Given the description of an element on the screen output the (x, y) to click on. 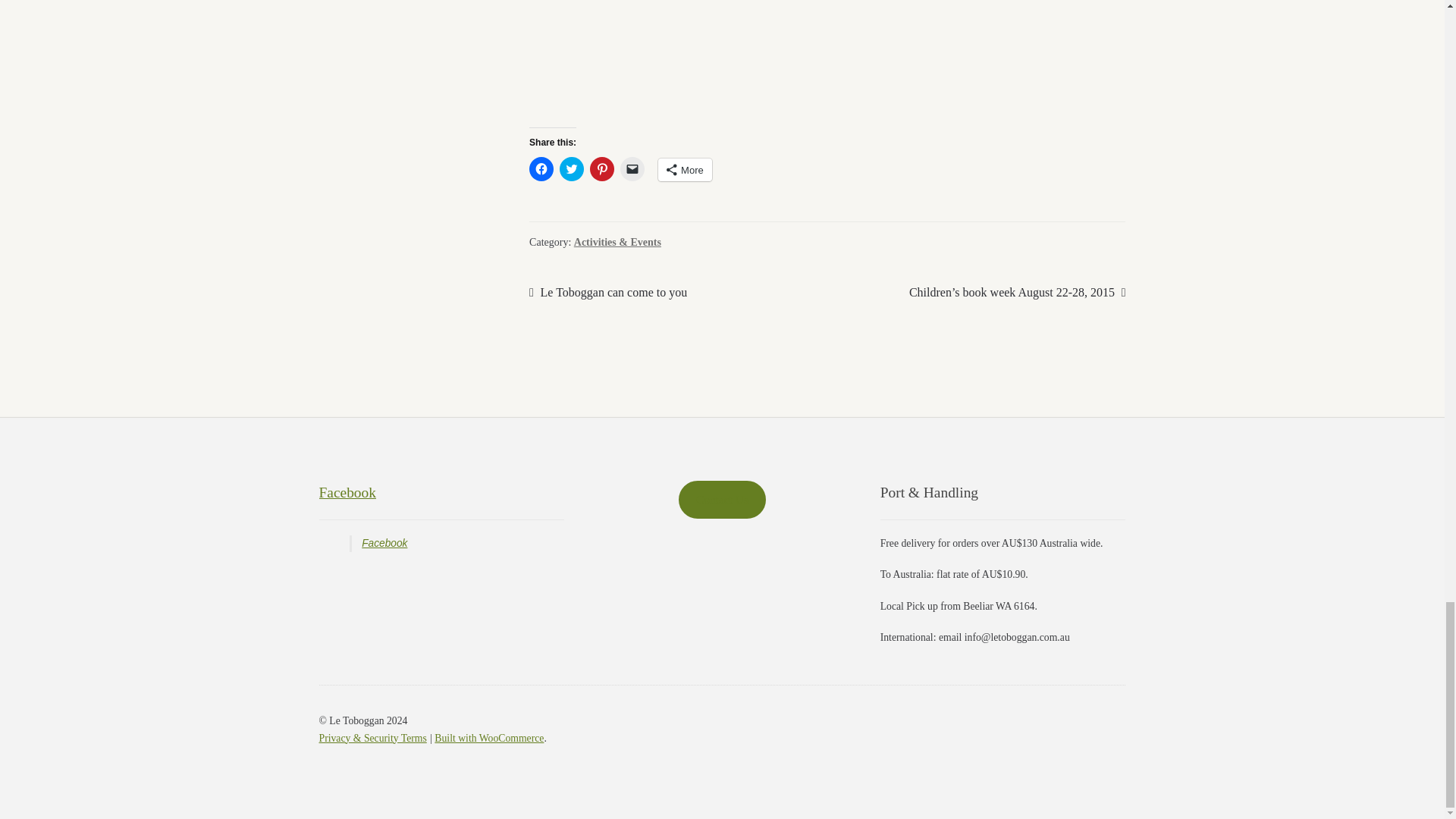
Click to email a link to a friend (632, 168)
Click to share on Pinterest (601, 168)
WooCommerce - The Best eCommerce Platform for WordPress (488, 737)
Click to share on Twitter (571, 168)
Click to share on Facebook (541, 168)
